Given the description of an element on the screen output the (x, y) to click on. 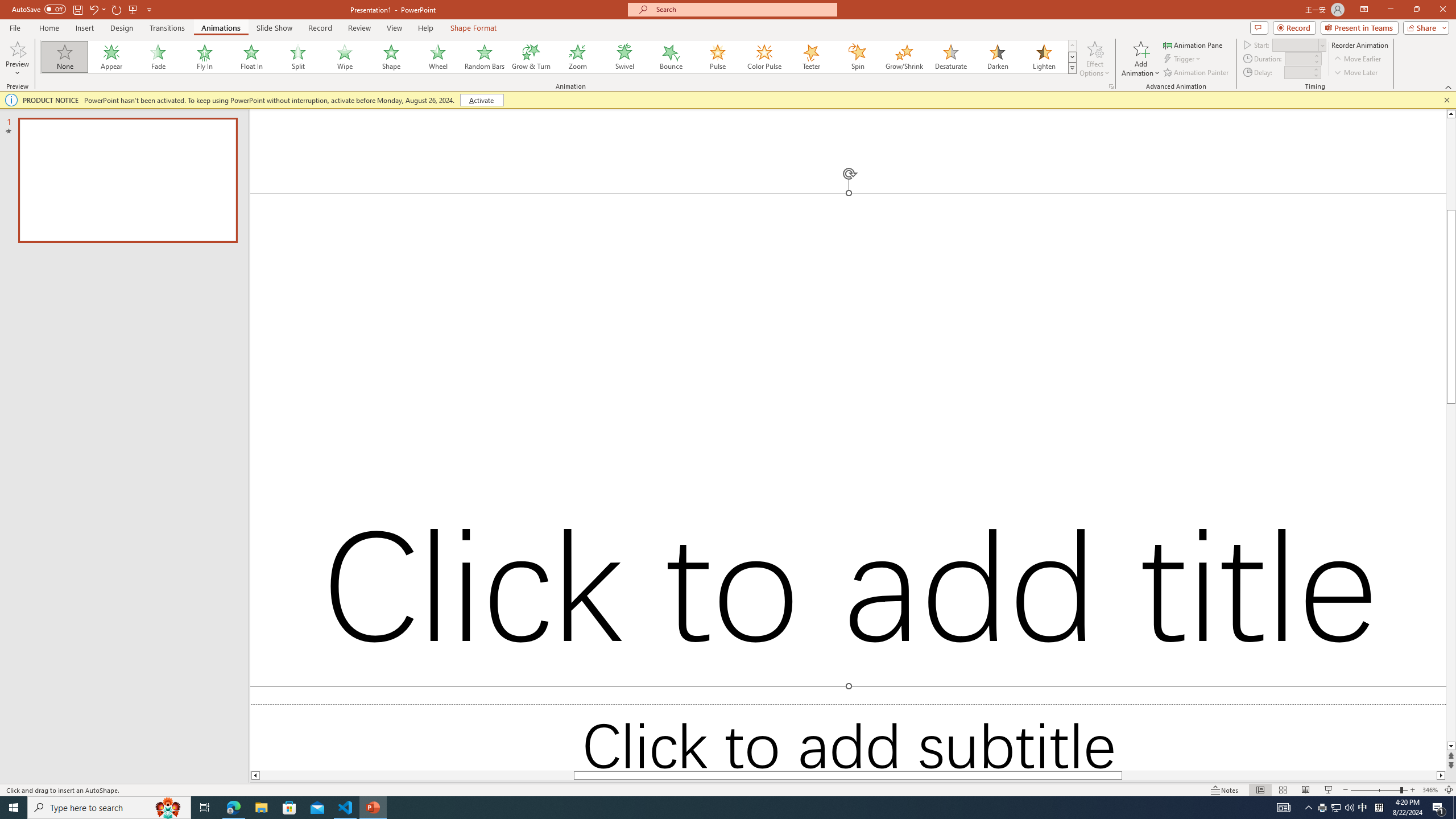
Grow/Shrink (903, 56)
Add Animation (1141, 58)
More Options... (1110, 85)
Bounce (670, 56)
Effect Options (1094, 58)
